Given the description of an element on the screen output the (x, y) to click on. 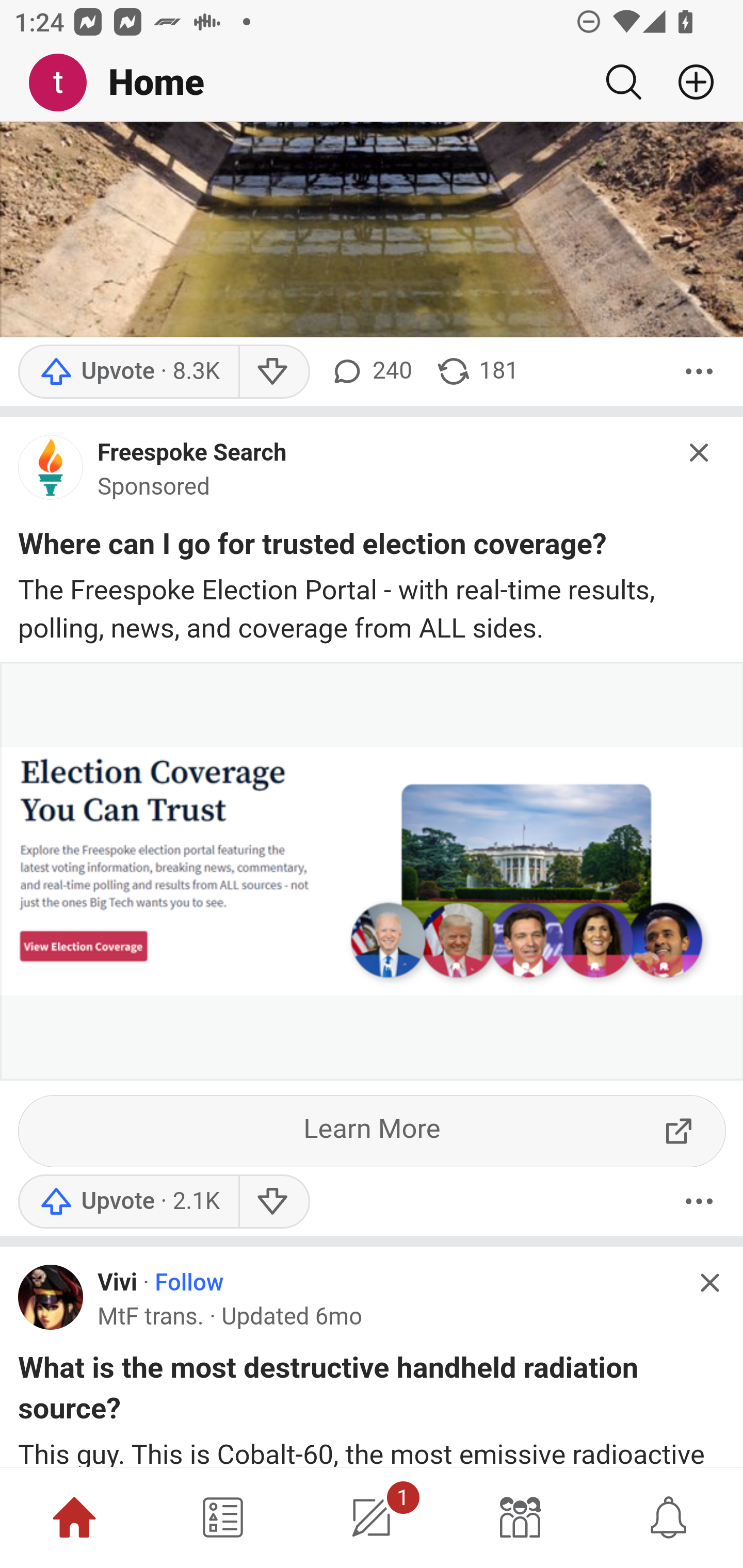
Me Home Search Add (371, 82)
Me (64, 83)
Search (623, 82)
Add (688, 82)
Upvote (127, 372)
Downvote (273, 372)
240 comments (369, 372)
181 shares (476, 372)
More (699, 372)
Hide (699, 453)
main-qimg-784c0b59c1772b60fd46a882711c92a8 (50, 473)
Freespoke Search (191, 454)
Sponsored (154, 488)
Where can I go for trusted election coverage? (312, 548)
Learn More ExternalLink (372, 1131)
Upvote (127, 1202)
Downvote (273, 1202)
More (699, 1202)
Hide (709, 1284)
Profile photo for Vivi (50, 1297)
Vivi (117, 1285)
Follow (189, 1285)
Updated 6mo Updated  6 mo (291, 1318)
1 (371, 1517)
